Given the description of an element on the screen output the (x, y) to click on. 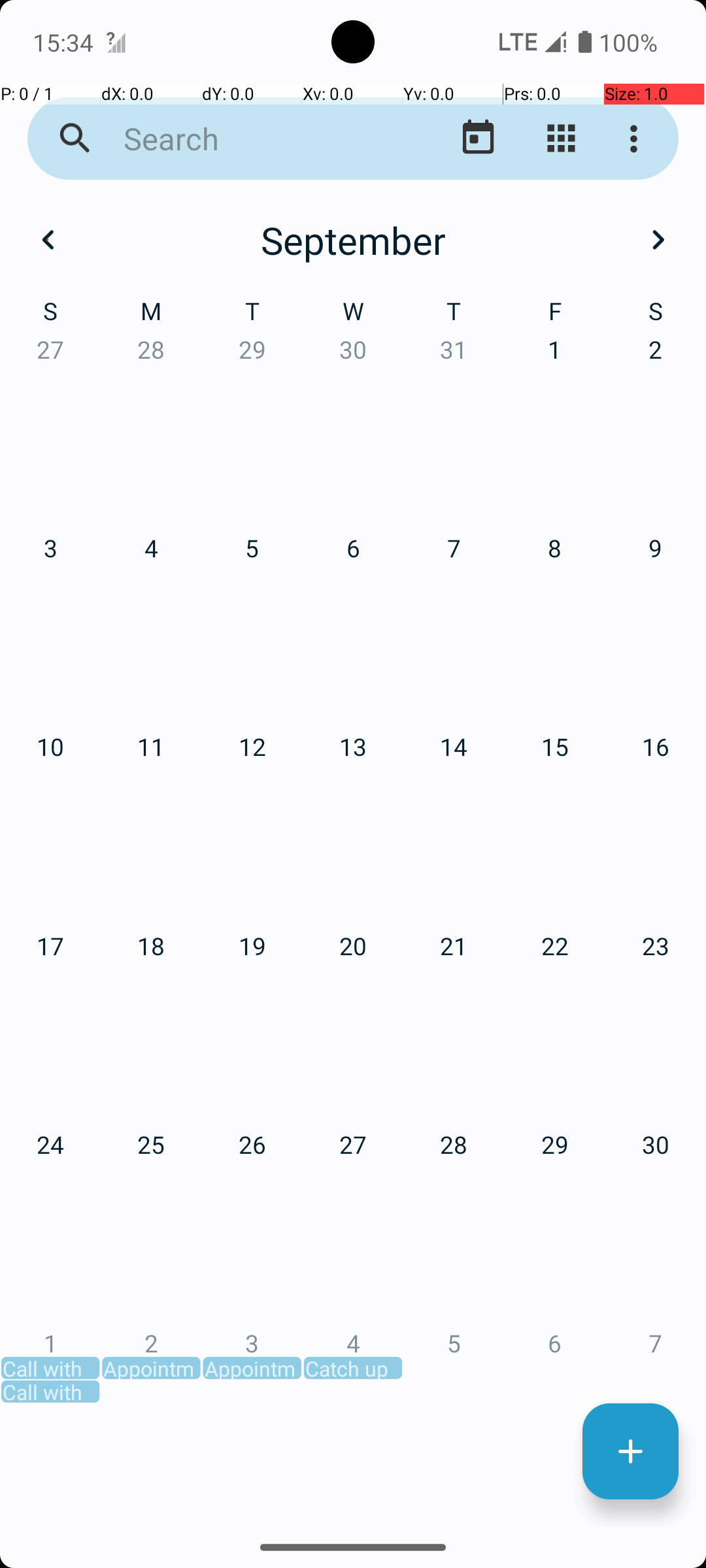
September Element type: android.widget.TextView (352, 239)
